Given the description of an element on the screen output the (x, y) to click on. 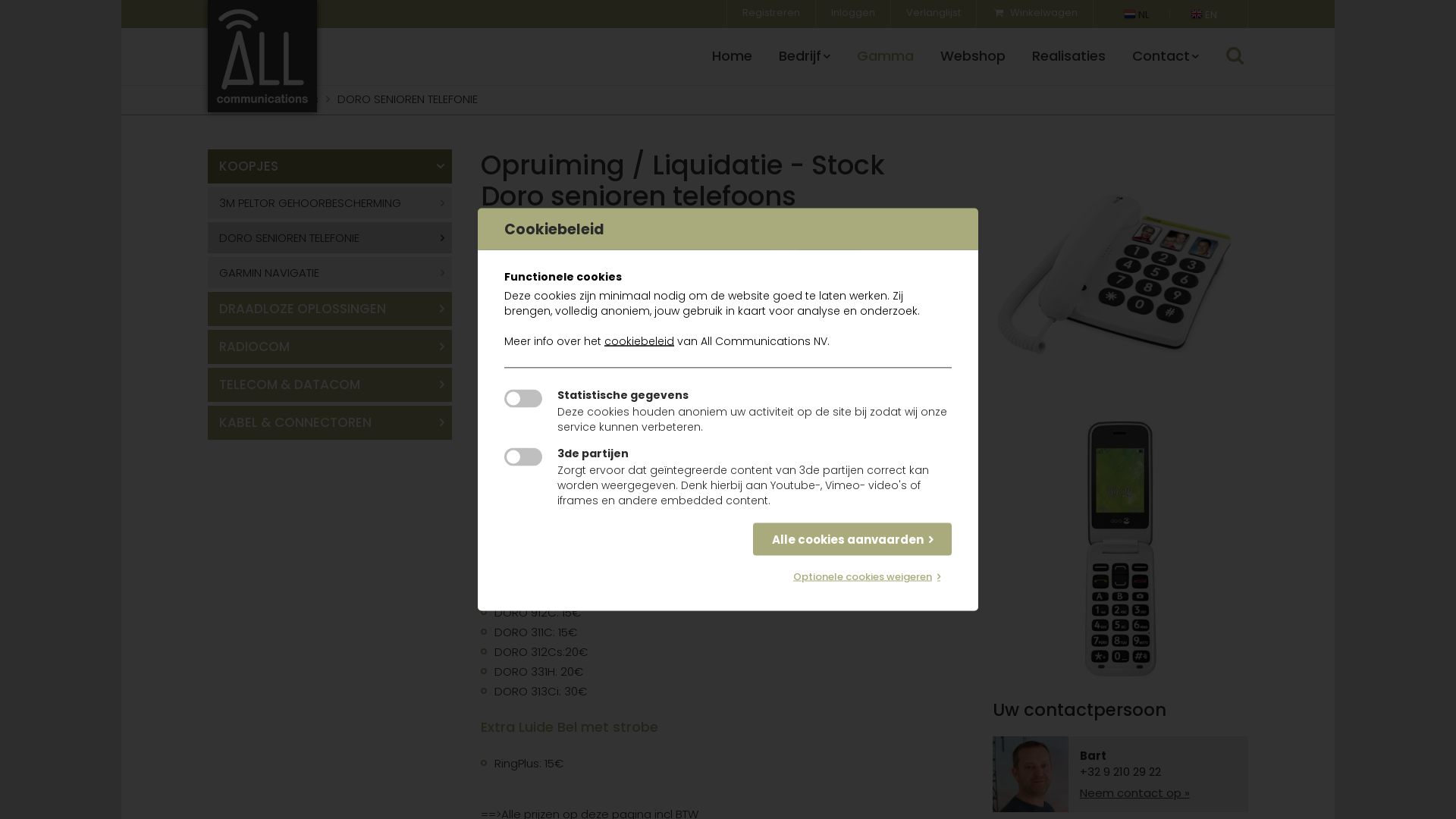
DORO SENIOREN TELEFONIE Element type: text (329, 237)
Home Element type: text (732, 55)
GARMIN NAVIGATIE Element type: text (329, 272)
KABEL & CONNECTOREN Element type: text (329, 422)
Alle cookies aanvaarden Element type: text (852, 539)
3M PELTOR GEHOORBESCHERMING Element type: text (329, 202)
Koopjes Element type: text (295, 98)
Optionele cookies weigeren Element type: text (866, 576)
DRAADLOZE OPLOSSINGEN Element type: text (329, 308)
Webshop Element type: text (972, 55)
TELECOM & DATACOM Element type: text (329, 384)
Verlanglijst Element type: text (933, 12)
cookiebeleid Element type: text (639, 340)
Gamma Element type: text (884, 55)
Realisaties Element type: text (1068, 55)
KOOPJES Element type: text (329, 166)
Gamma Element type: text (230, 98)
DORO SENIOREN TELEFONIE Element type: text (407, 98)
Bedrijf Element type: text (804, 55)
RADIOCOM Element type: text (329, 346)
Contact Element type: text (1165, 55)
Registreren Element type: text (771, 12)
Winkelwagen Element type: text (1034, 12)
Inloggen Element type: text (852, 12)
